Given the description of an element on the screen output the (x, y) to click on. 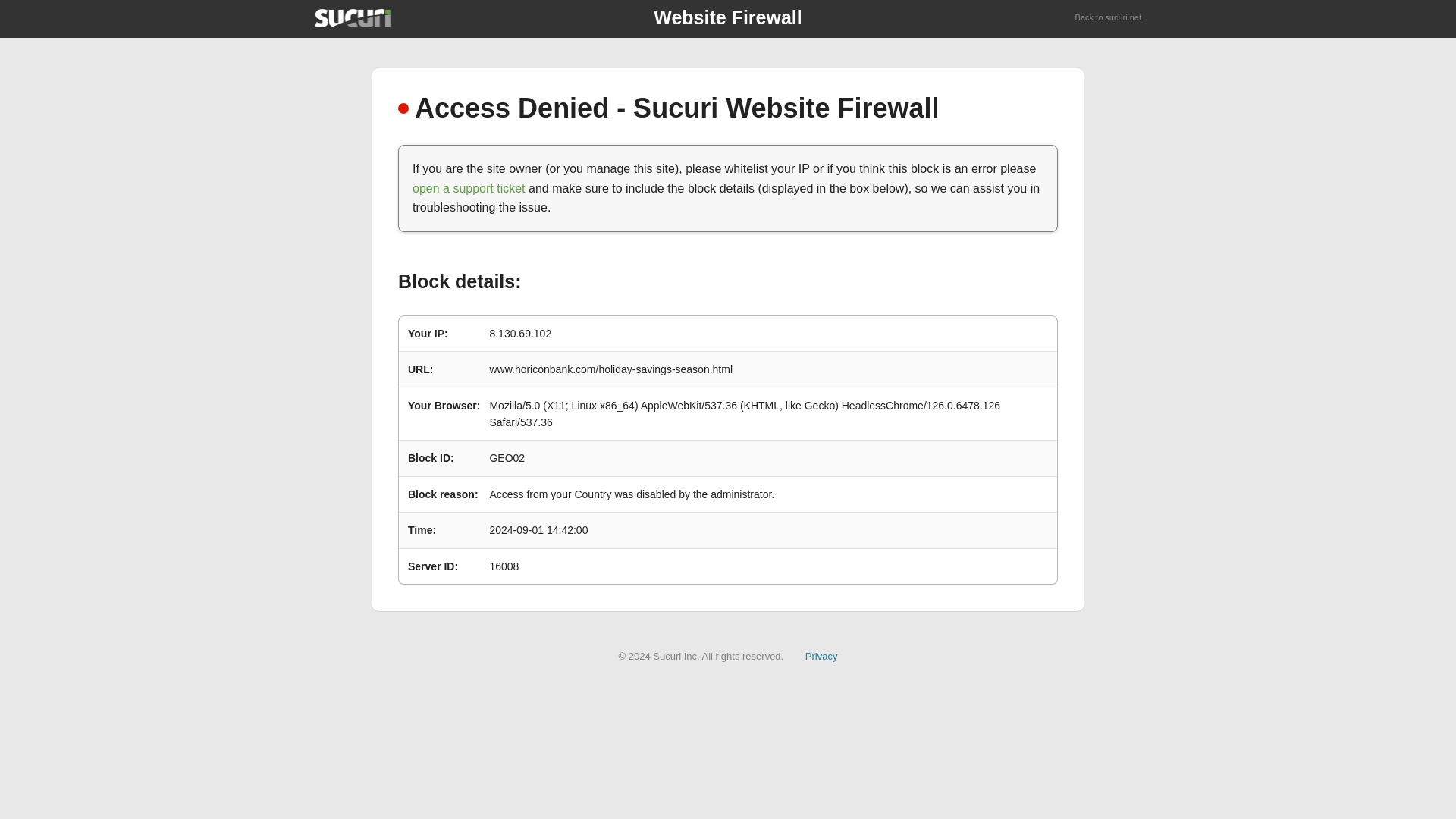
Privacy (821, 655)
open a support ticket (468, 187)
Back to sucuri.net (1108, 18)
